Given the description of an element on the screen output the (x, y) to click on. 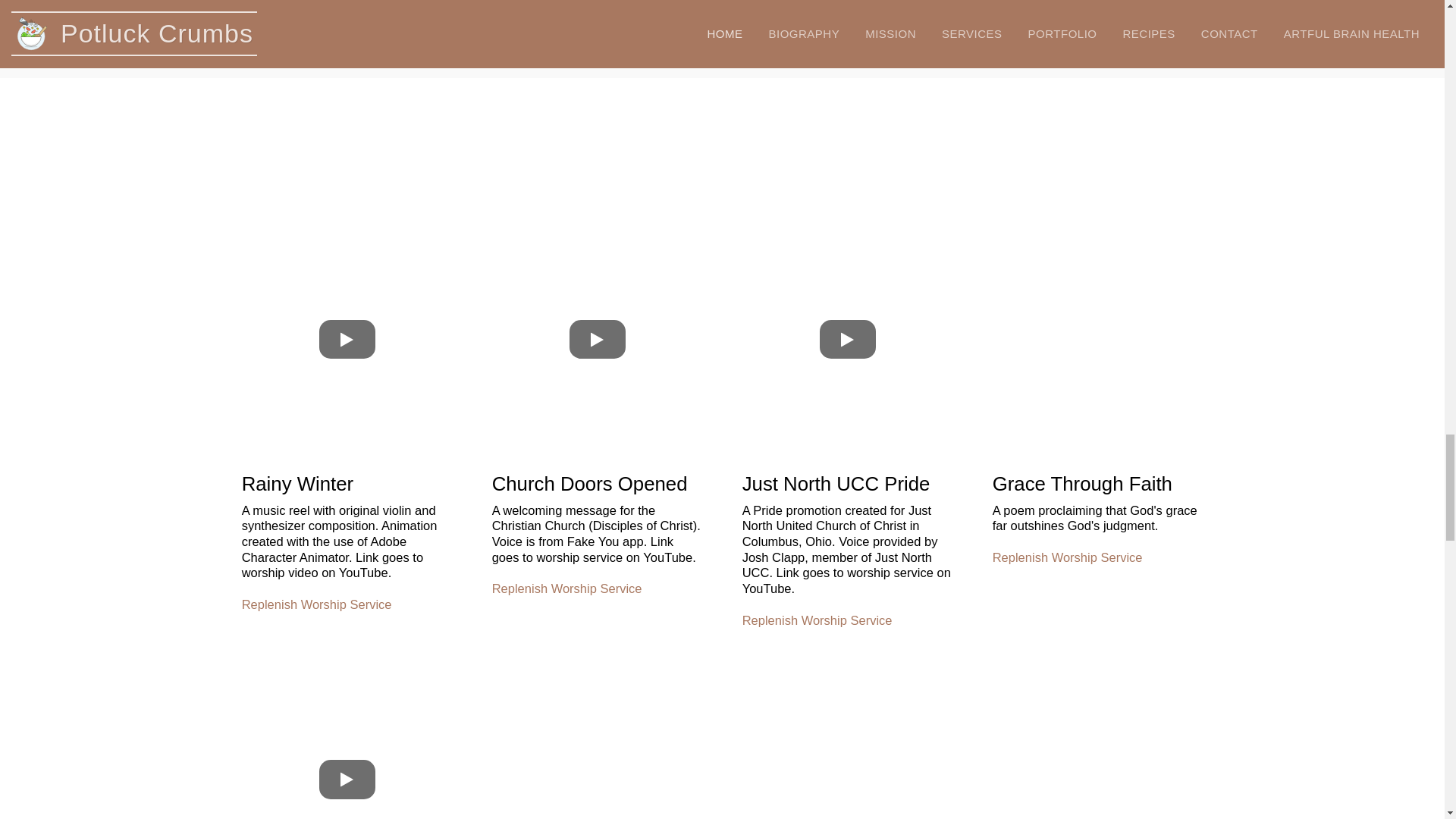
Replenish Worship Service (567, 588)
Church Doors Opened (597, 339)
The Light of the Cross (347, 743)
Just North UCC Pride (847, 339)
Replenish Worship Service (817, 620)
Replenish Worship Service (1067, 557)
Replenish Worship Service (316, 603)
Rainy Winter (347, 339)
Grace Through Faith (1097, 339)
